Given the description of an element on the screen output the (x, y) to click on. 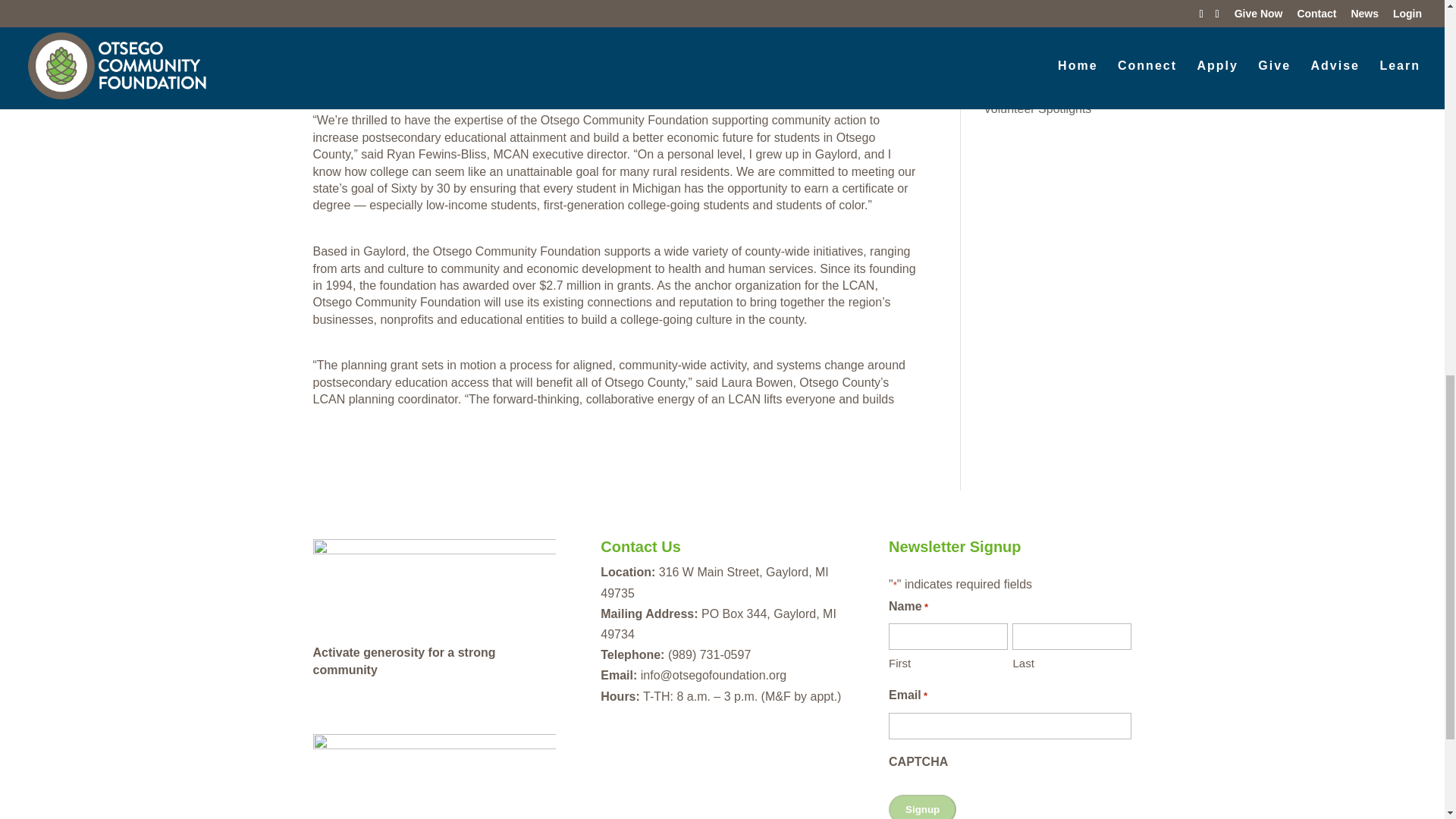
Scholarship (1015, 39)
OCAN (1000, 15)
Signup (922, 806)
Through the Archives (1040, 62)
Signup (922, 806)
Tornado (1005, 85)
Volunteer Spotlights (1037, 108)
